Given the description of an element on the screen output the (x, y) to click on. 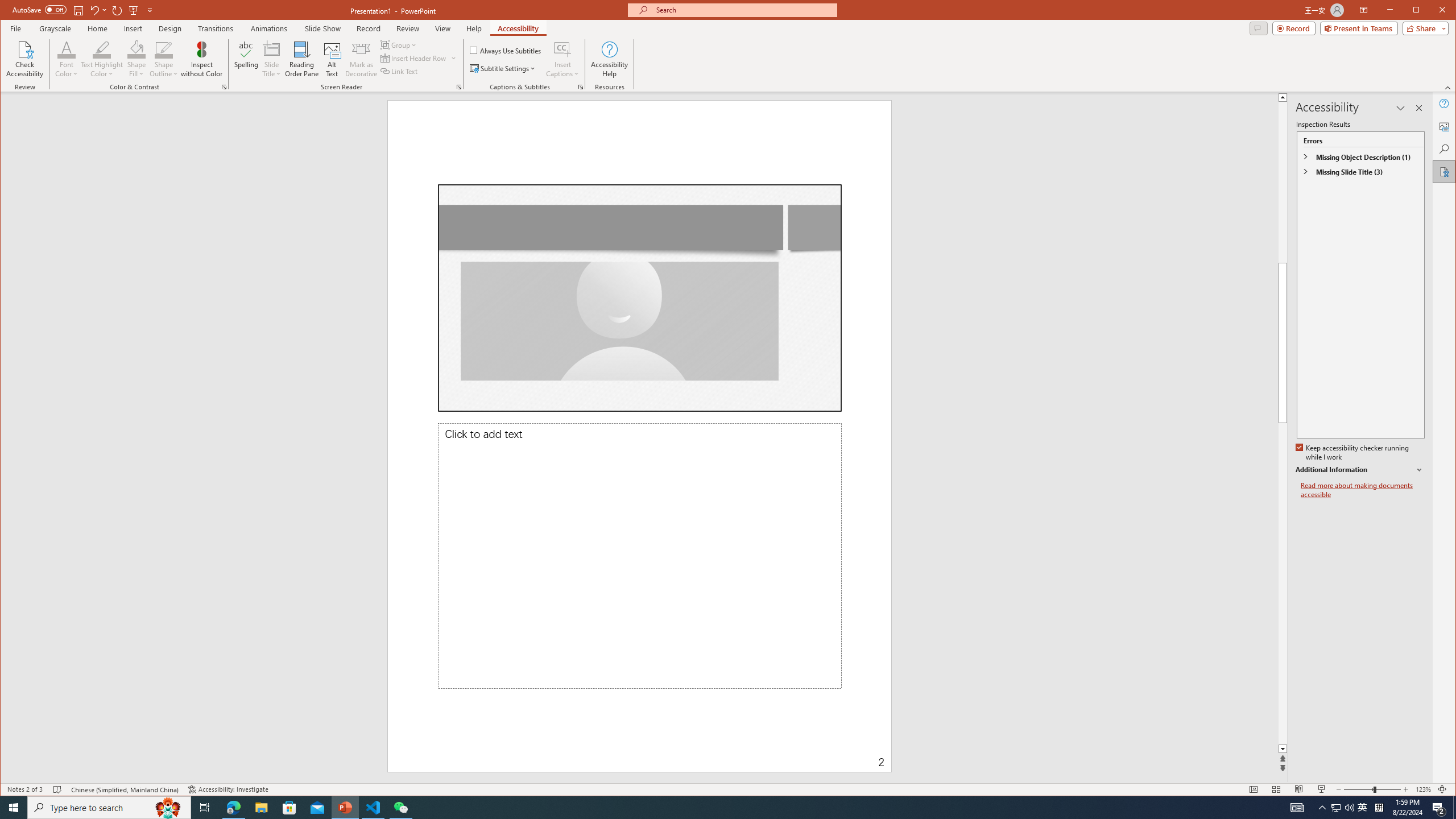
Mark as Decorative (360, 59)
